Given the description of an element on the screen output the (x, y) to click on. 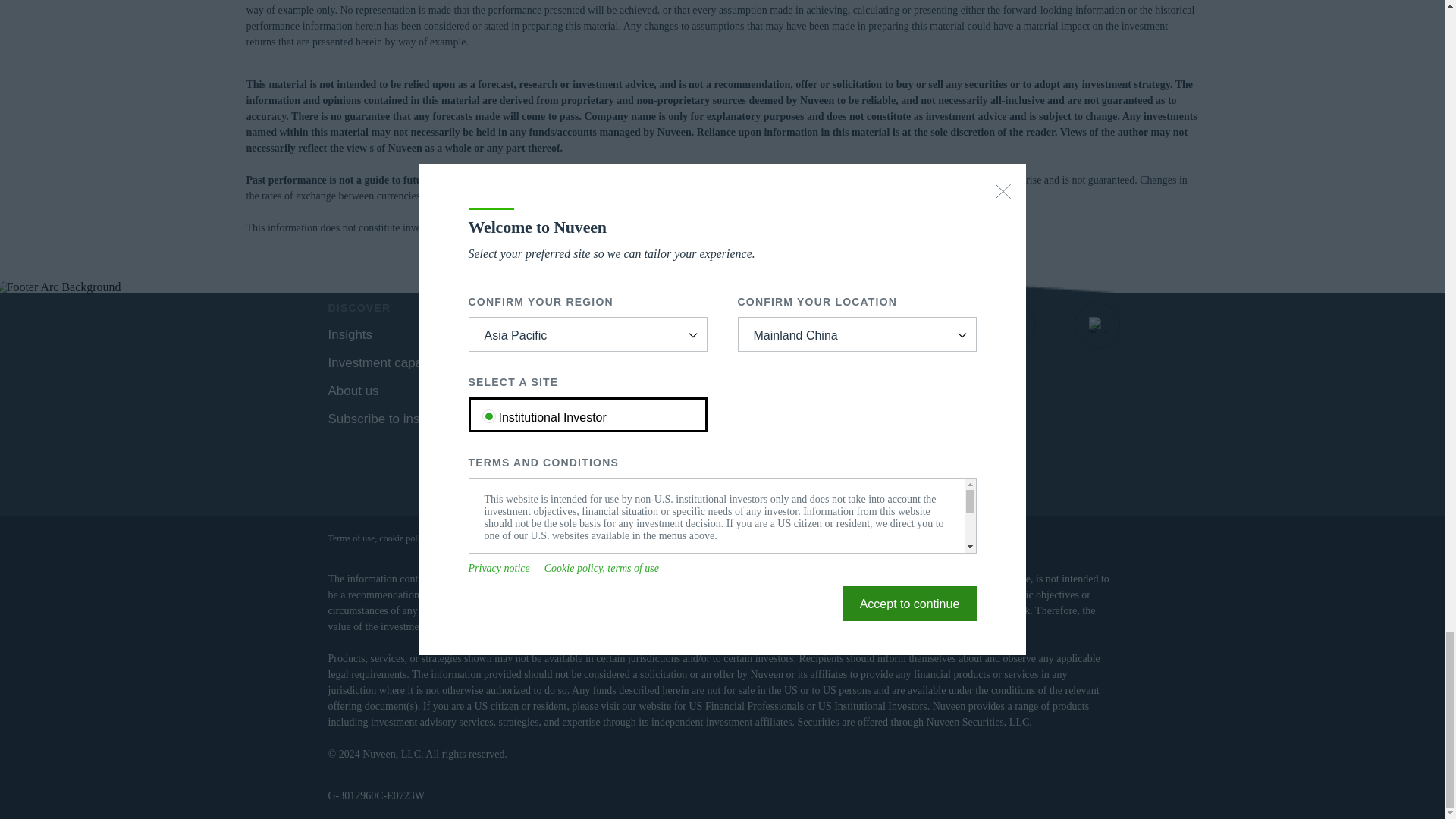
opens in a new window (508, 390)
opens in a new window (1013, 325)
opens in a new window (1097, 325)
opens in a new window (928, 325)
opens in a new window (845, 325)
